Given the description of an element on the screen output the (x, y) to click on. 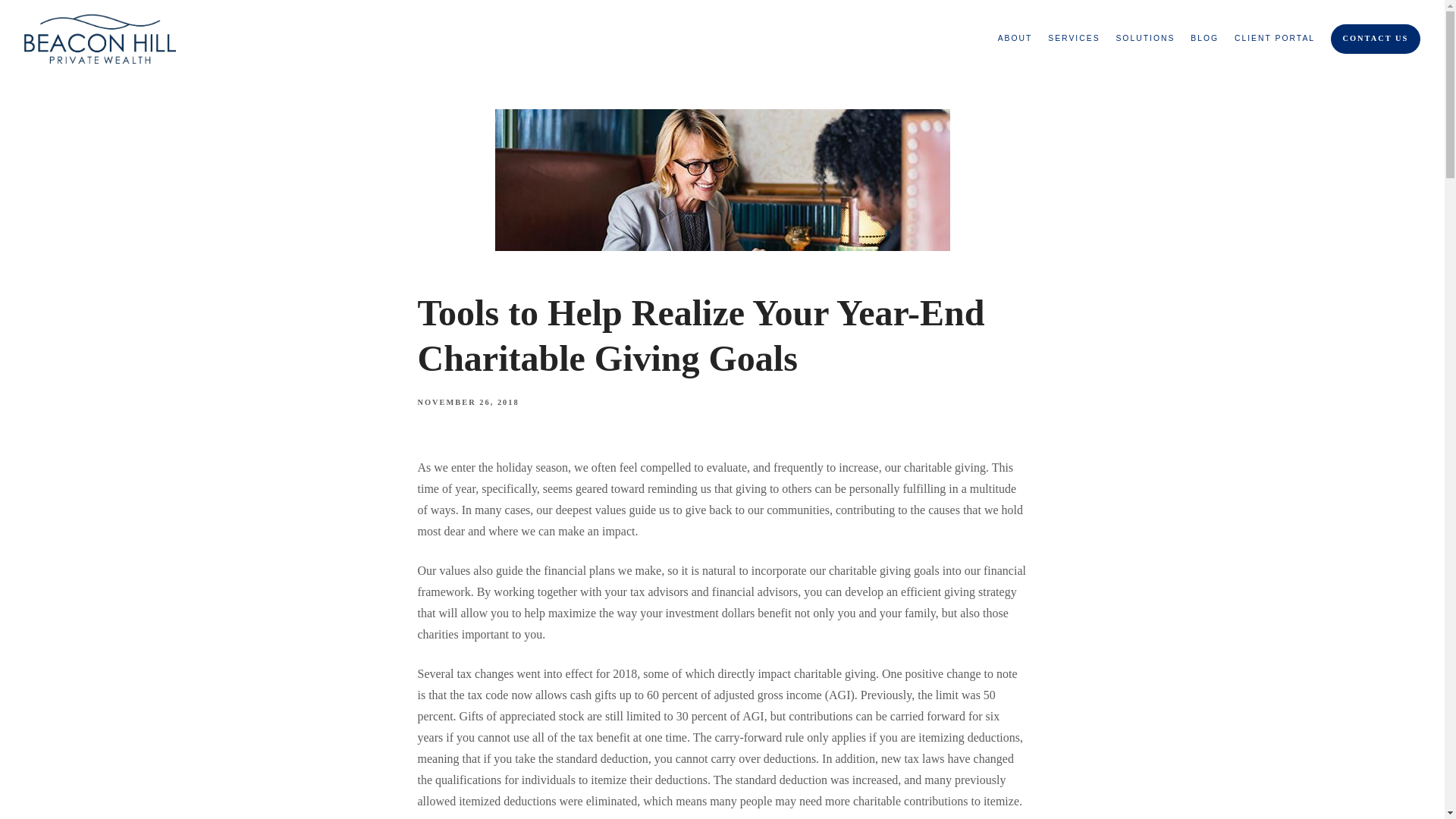
ABOUT (1014, 38)
SOLUTIONS (1144, 38)
BLOG (1204, 38)
SERVICES (1073, 38)
CLIENT PORTAL (1274, 38)
CONTACT US (1375, 39)
